Given the description of an element on the screen output the (x, y) to click on. 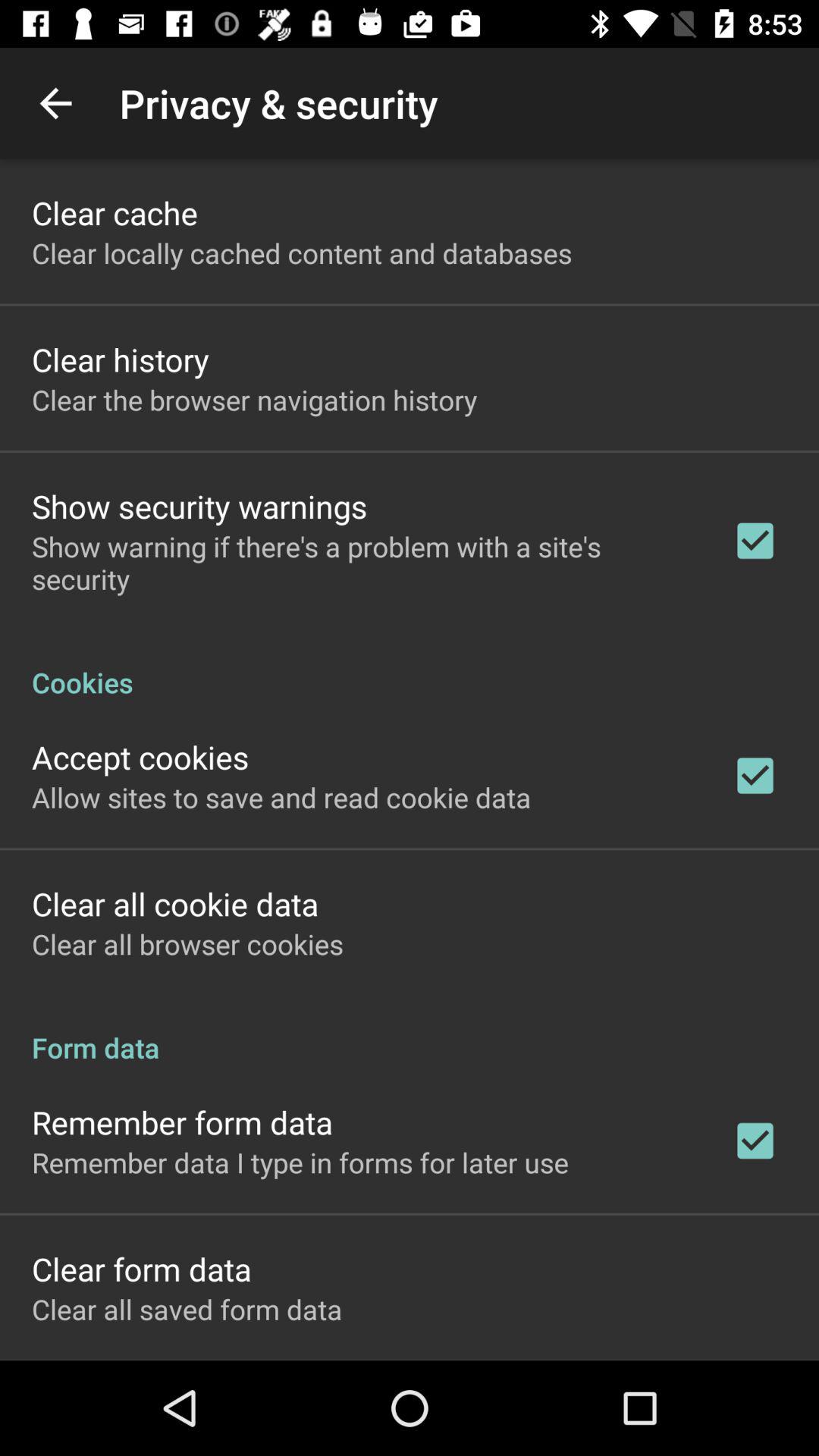
scroll until the allow sites to (281, 797)
